Given the description of an element on the screen output the (x, y) to click on. 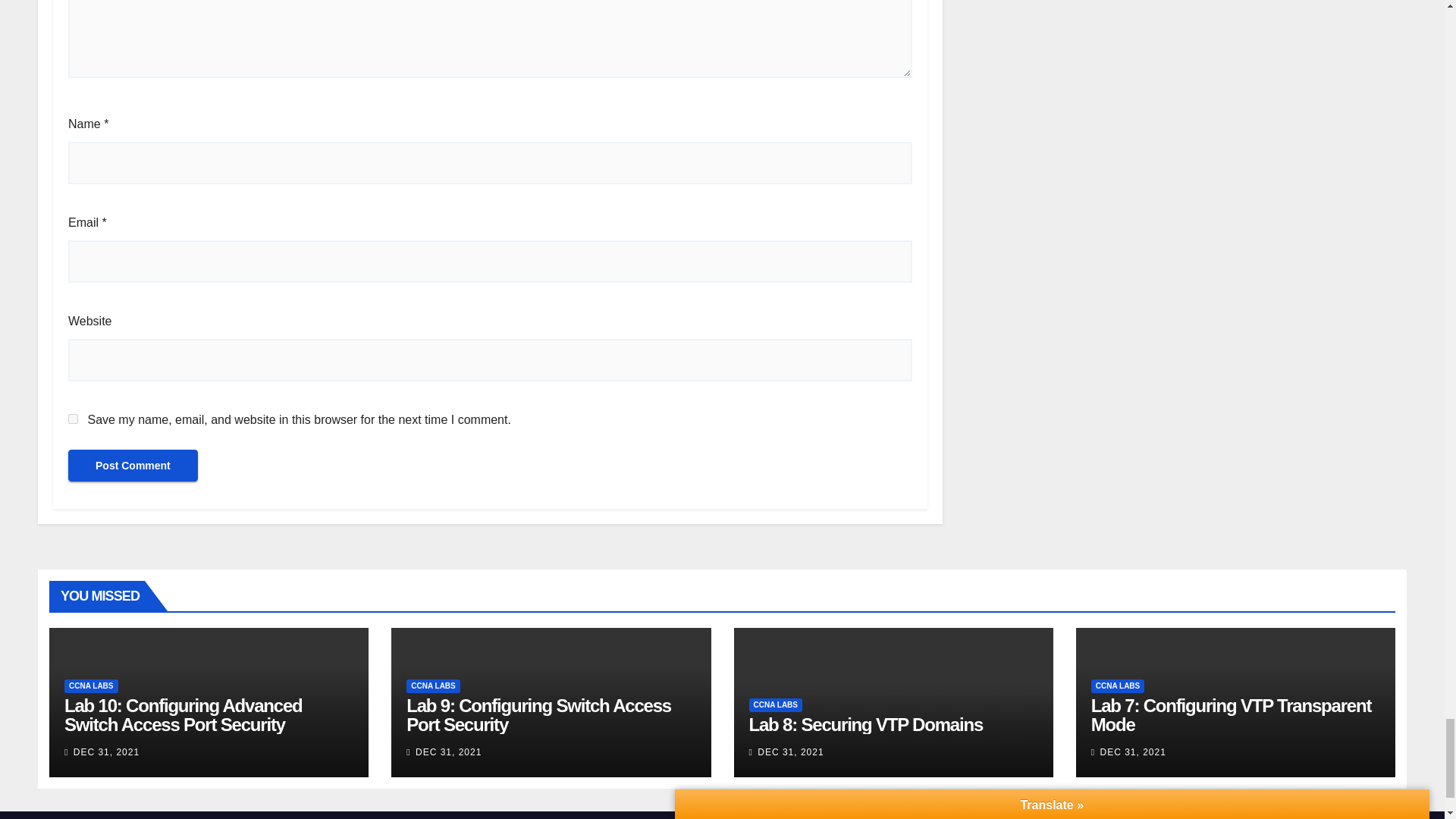
Post Comment (133, 465)
yes (73, 419)
CCNA LABS (90, 685)
Post Comment (133, 465)
